Given the description of an element on the screen output the (x, y) to click on. 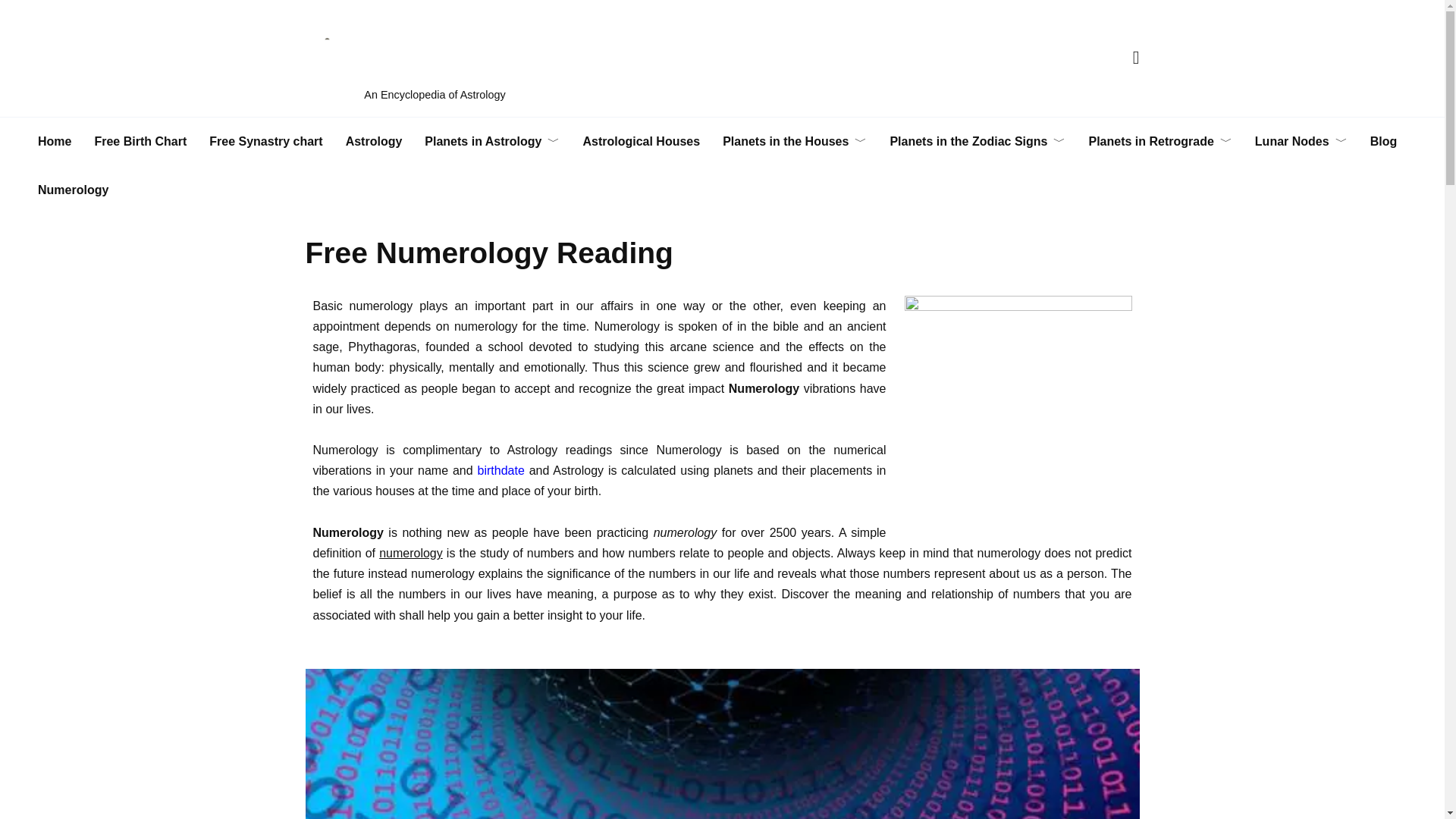
Home (54, 141)
Free Synastry chart (265, 141)
Planets in Retrograde (1160, 141)
Planets in the Zodiac Signs (977, 141)
Planets in Astrology (491, 141)
Planets in the Houses (794, 141)
Your Astro Codex (599, 50)
Free Birth Chart (140, 141)
Astrology (373, 141)
Astrological Houses (640, 141)
